Given the description of an element on the screen output the (x, y) to click on. 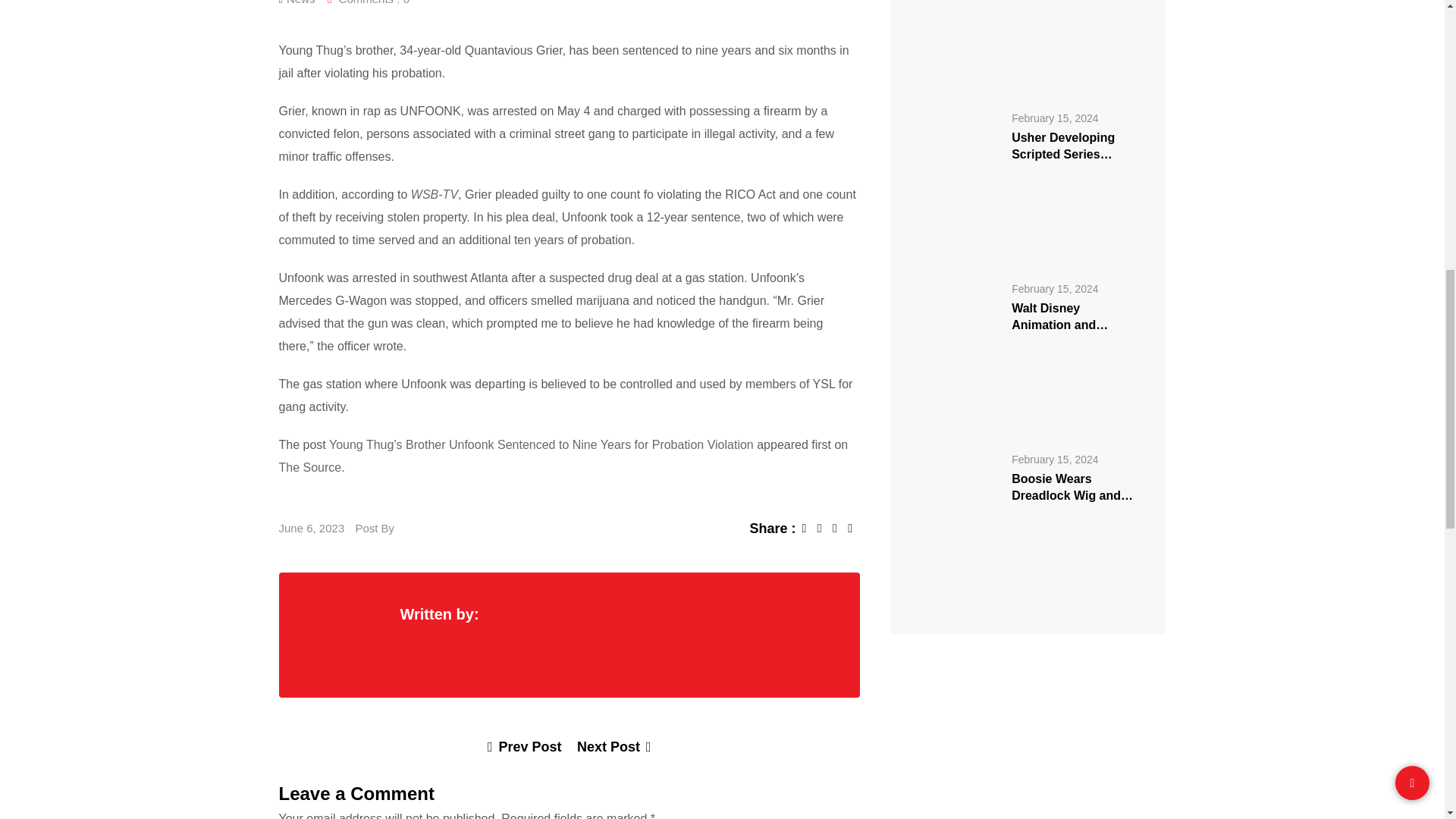
News (300, 5)
Prev Post (524, 746)
Boosie Wears Dreadlock Wig and Rasta Hat to Bob Marley Movie (1022, 525)
Share via Email (853, 527)
WSB-TV (434, 194)
LinkedIn (839, 527)
The Source (310, 467)
Next Post (613, 746)
